Given the description of an element on the screen output the (x, y) to click on. 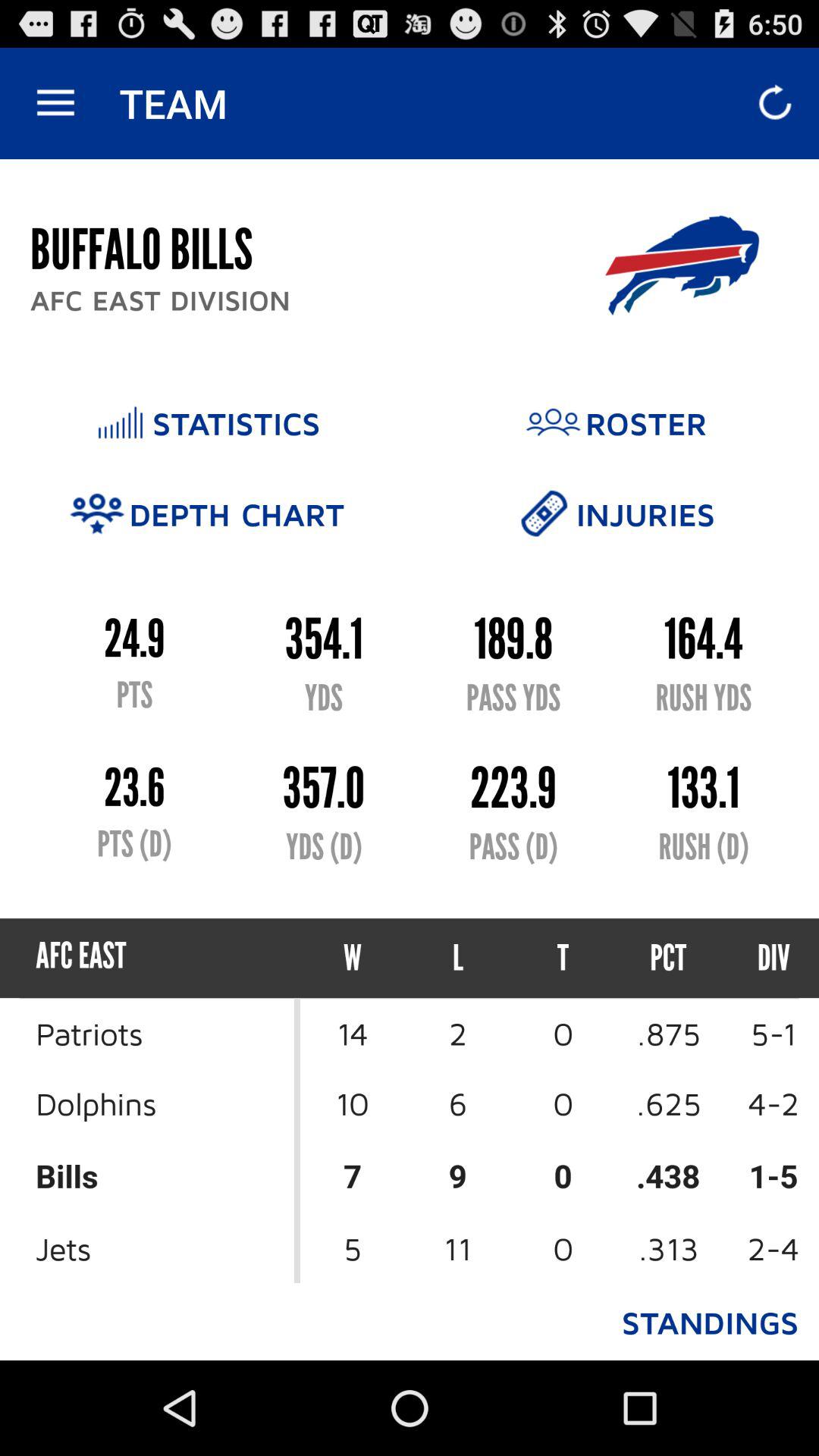
choose the item above the buffalo bills item (55, 103)
